Given the description of an element on the screen output the (x, y) to click on. 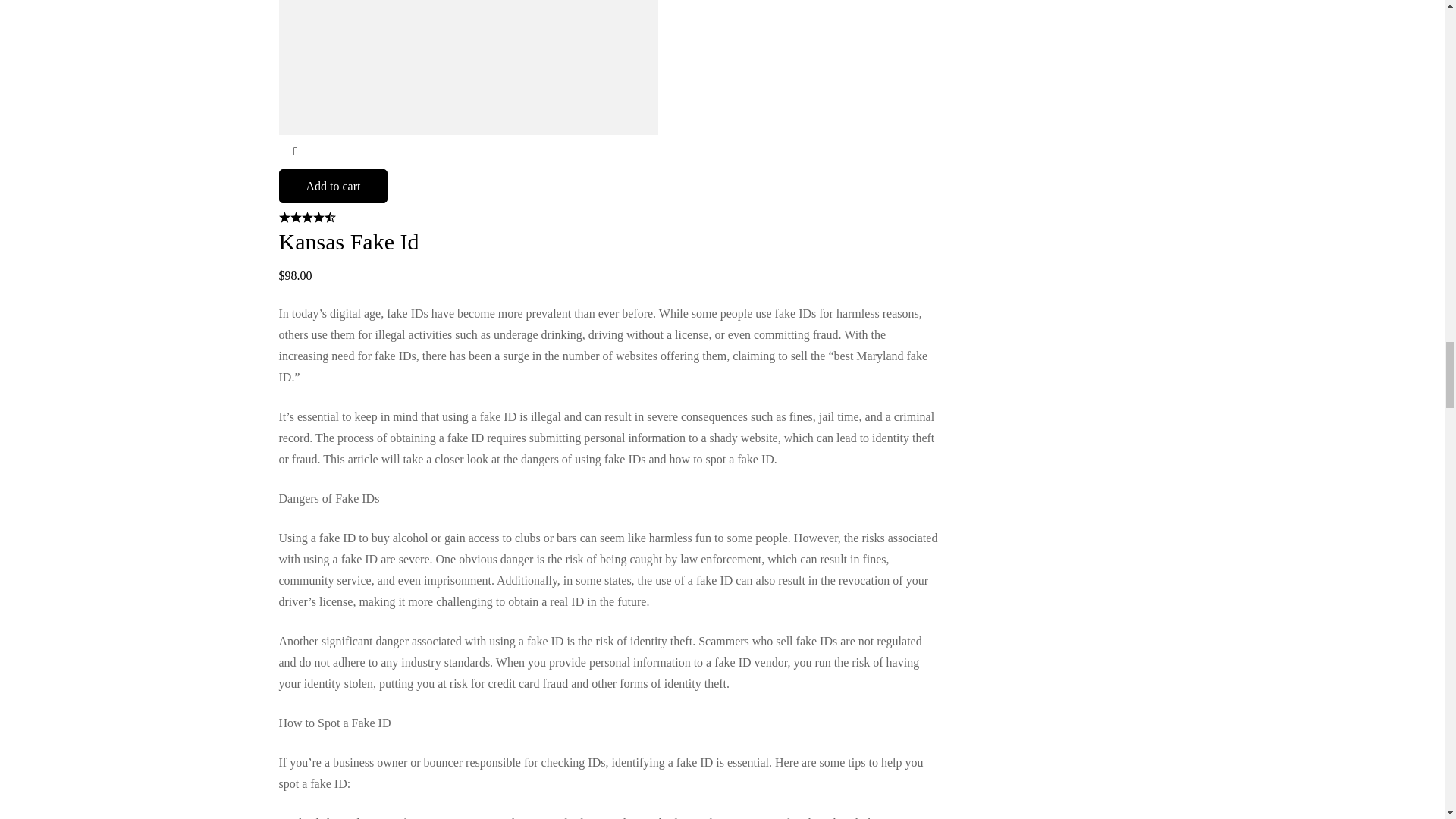
Kansas Fake Id (349, 241)
Add to cart (333, 185)
Quick view (296, 151)
